Given the description of an element on the screen output the (x, y) to click on. 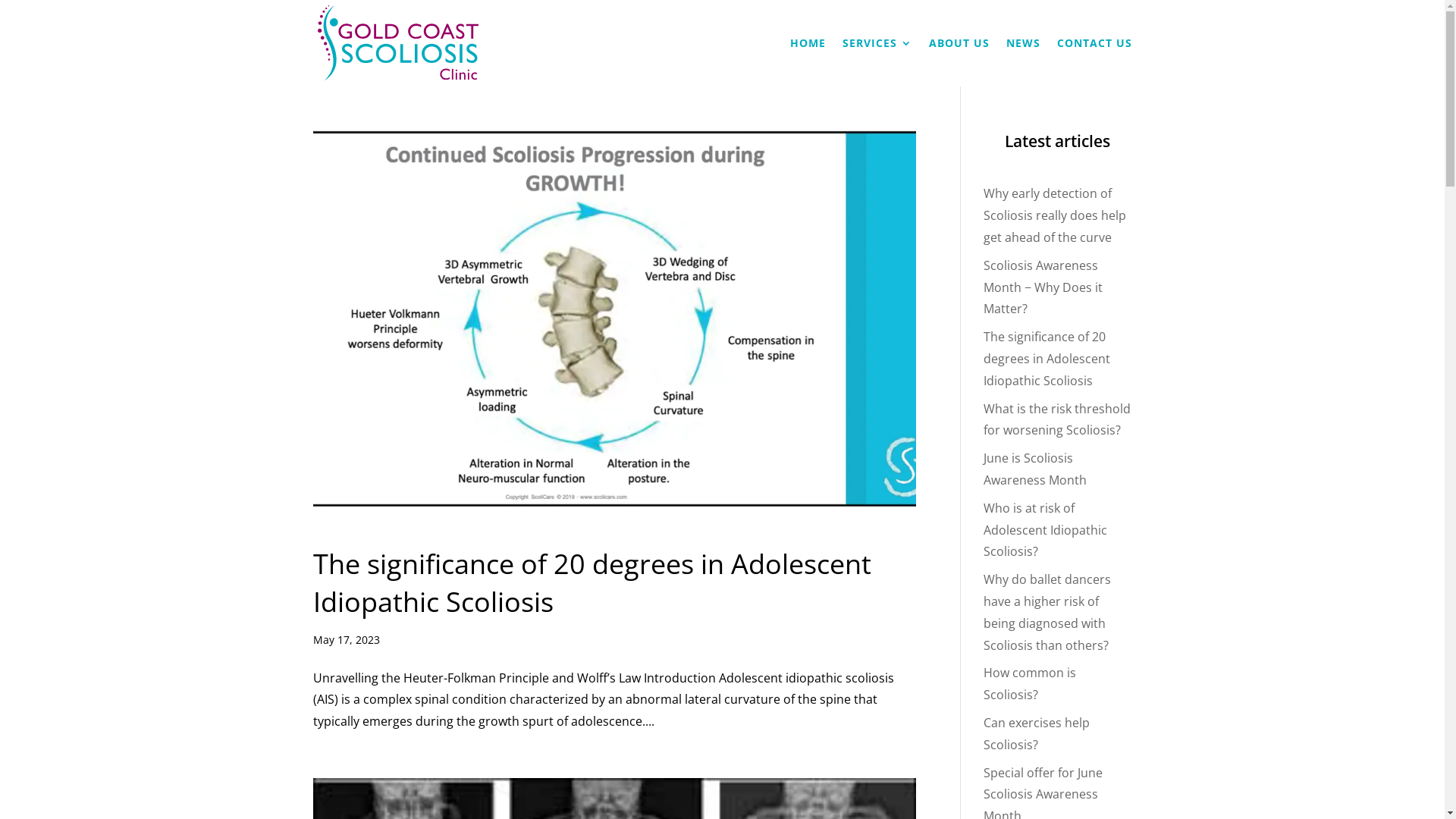
HOME Element type: text (807, 61)
June is Scoliosis Awareness Month Element type: text (1034, 468)
Can exercises help Scoliosis? Element type: text (1036, 733)
How common is Scoliosis? Element type: text (1029, 683)
ABOUT US Element type: text (958, 61)
NEWS Element type: text (1022, 61)
What is the risk threshold for worsening Scoliosis? Element type: text (1056, 419)
SERVICES Element type: text (876, 61)
Who is at risk of Adolescent Idiopathic Scoliosis? Element type: text (1045, 529)
CONTACT US Element type: text (1094, 61)
